Given the description of an element on the screen output the (x, y) to click on. 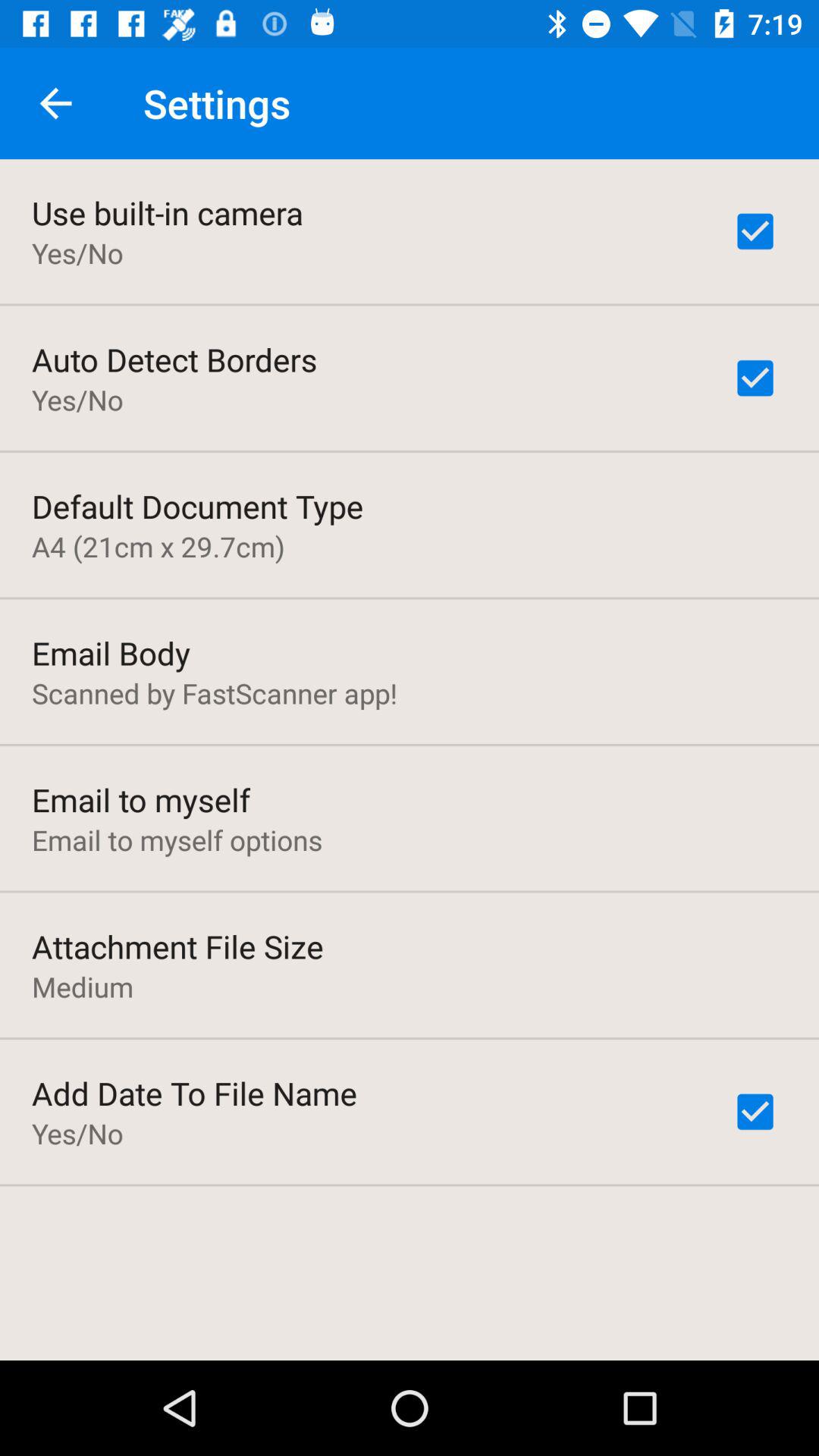
launch the medium icon (82, 986)
